Given the description of an element on the screen output the (x, y) to click on. 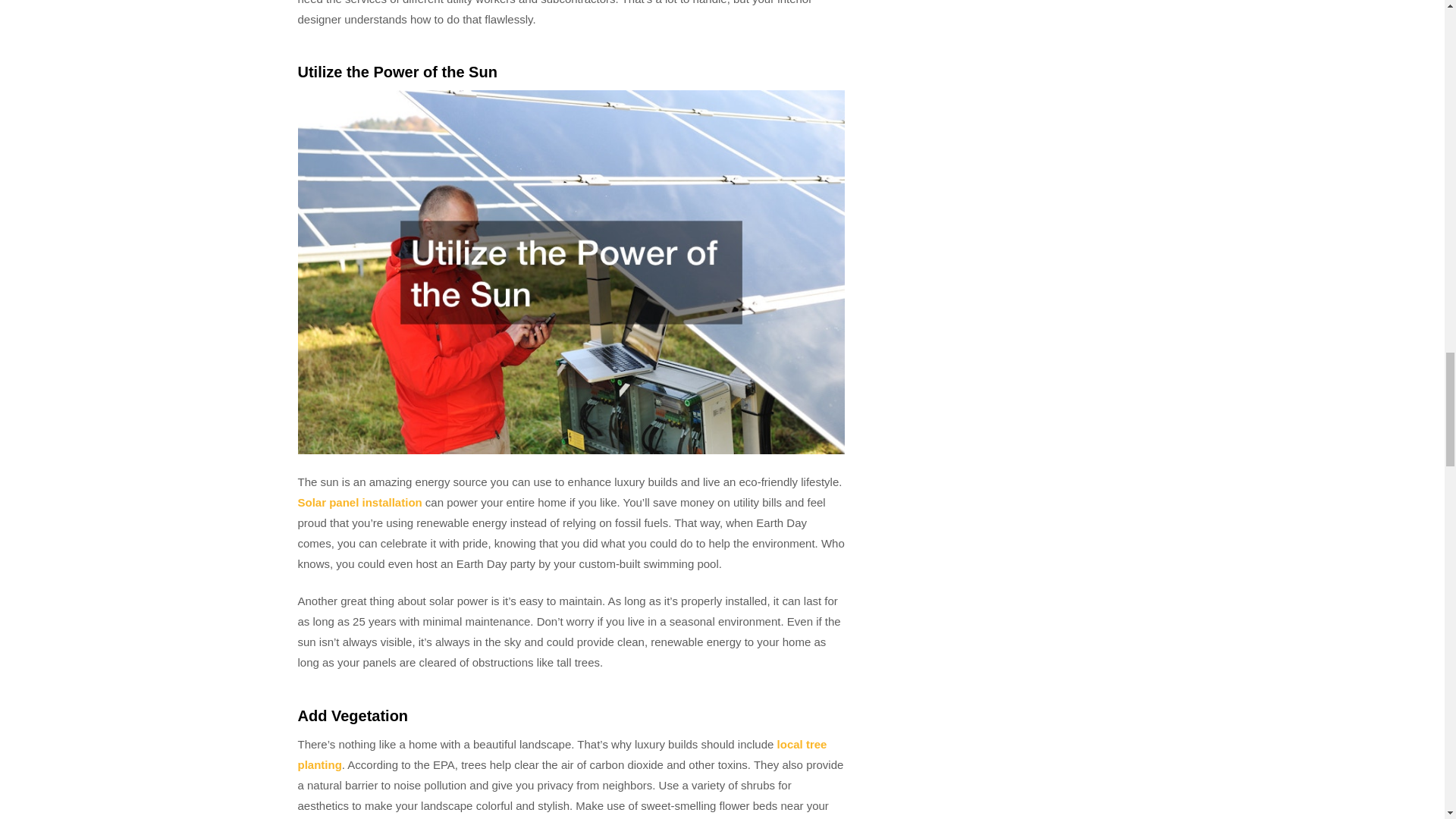
Solar panel installation (359, 502)
local tree planting (562, 754)
